Given the description of an element on the screen output the (x, y) to click on. 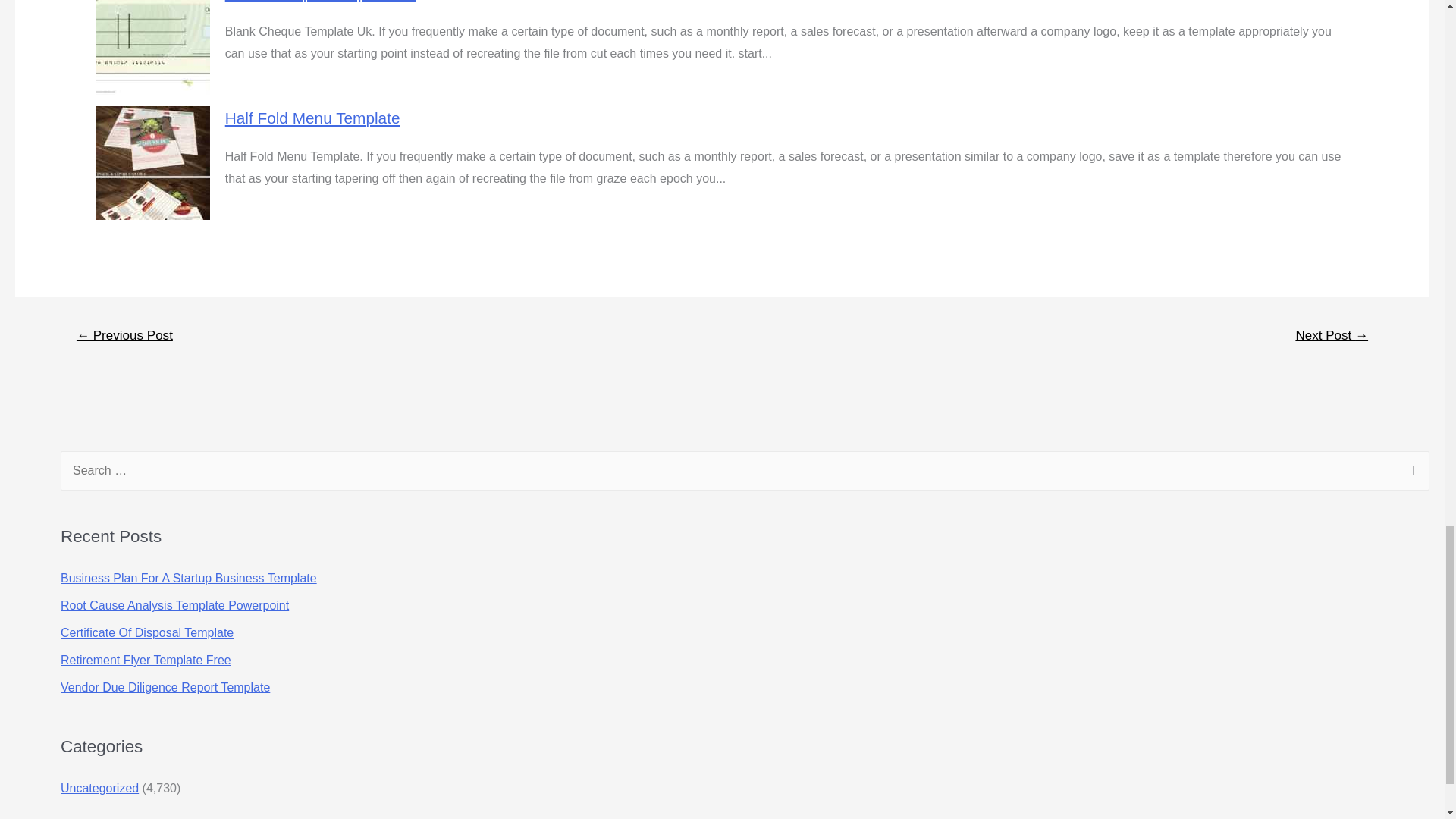
Uncategorized (99, 788)
Search (1411, 472)
Retirement Flyer Template Free (146, 659)
Vendor Due Diligence Report Template (165, 686)
Business Plan For A Startup Business Template (189, 577)
Half Fold Menu Template (312, 117)
Root Cause Analysis Template Powerpoint (174, 604)
Search (1411, 472)
Search (1411, 472)
Certificate Of Disposal Template (146, 632)
